Given the description of an element on the screen output the (x, y) to click on. 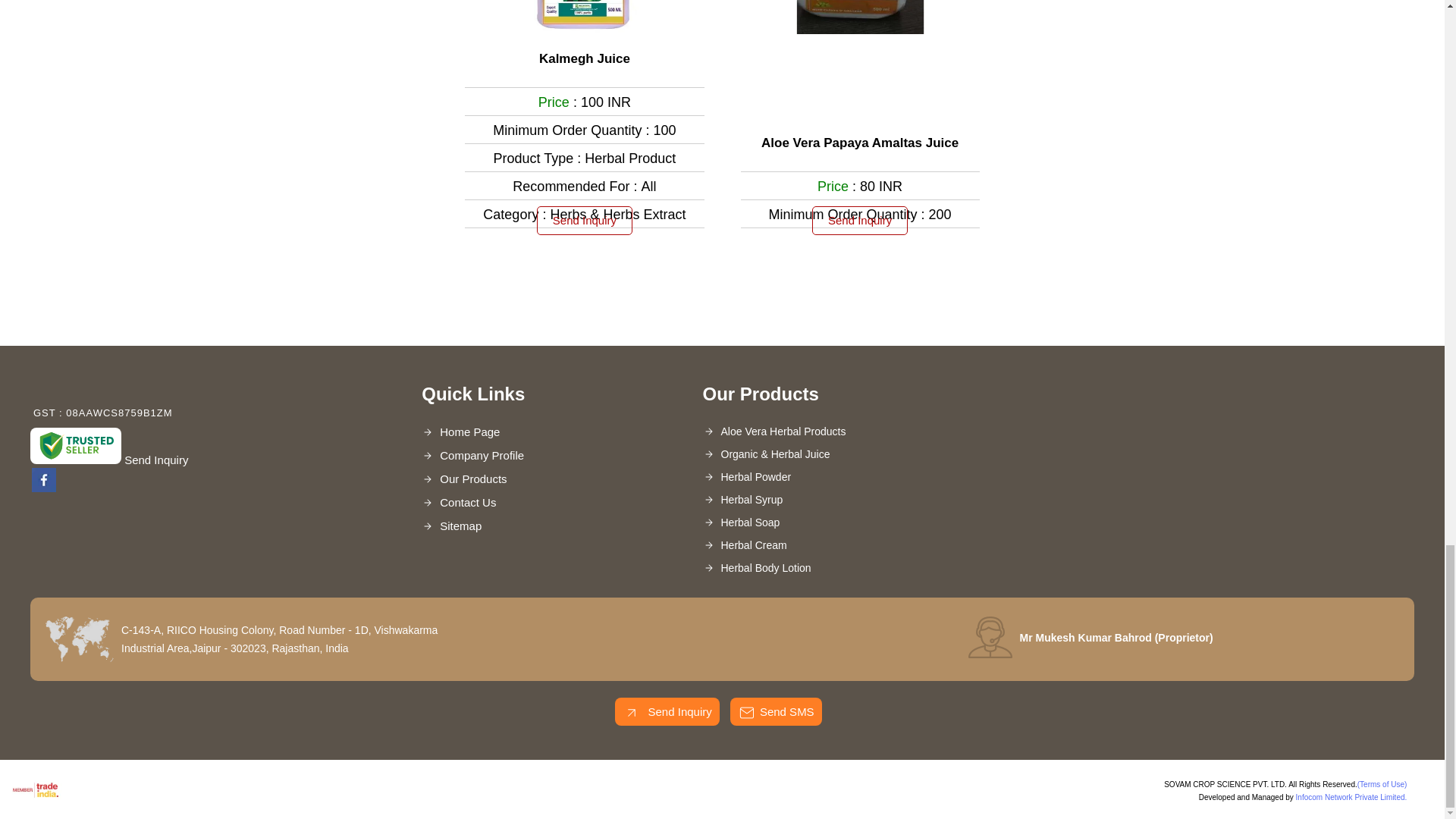
Send Inquiry (631, 712)
Facebook (44, 487)
Send SMS (746, 712)
